Given the description of an element on the screen output the (x, y) to click on. 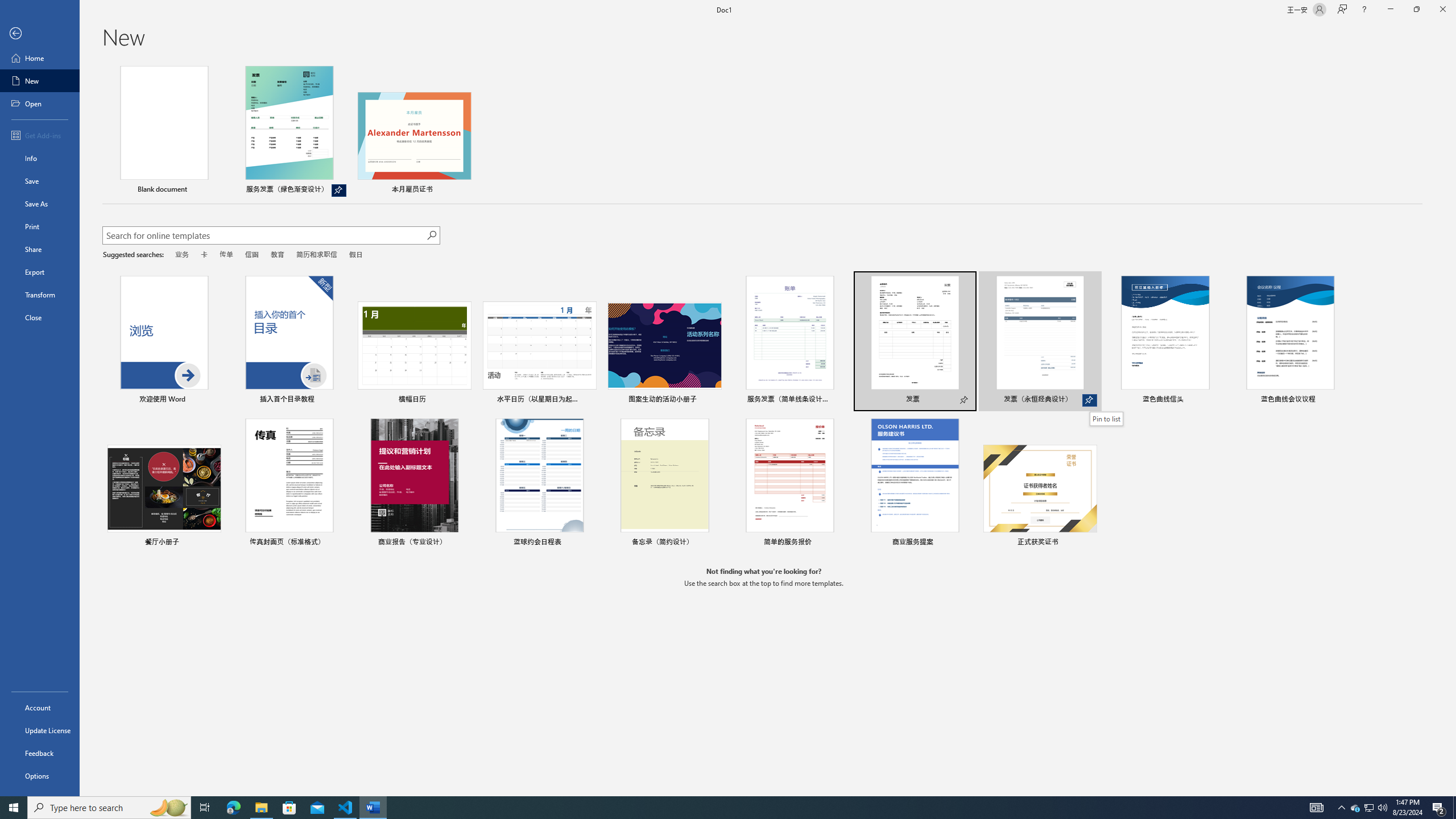
Print (40, 225)
Update License (40, 730)
Class: NetUIScrollBar (1450, 428)
Unpin from list (338, 190)
Open (40, 102)
Minimize (1390, 9)
